Given the description of an element on the screen output the (x, y) to click on. 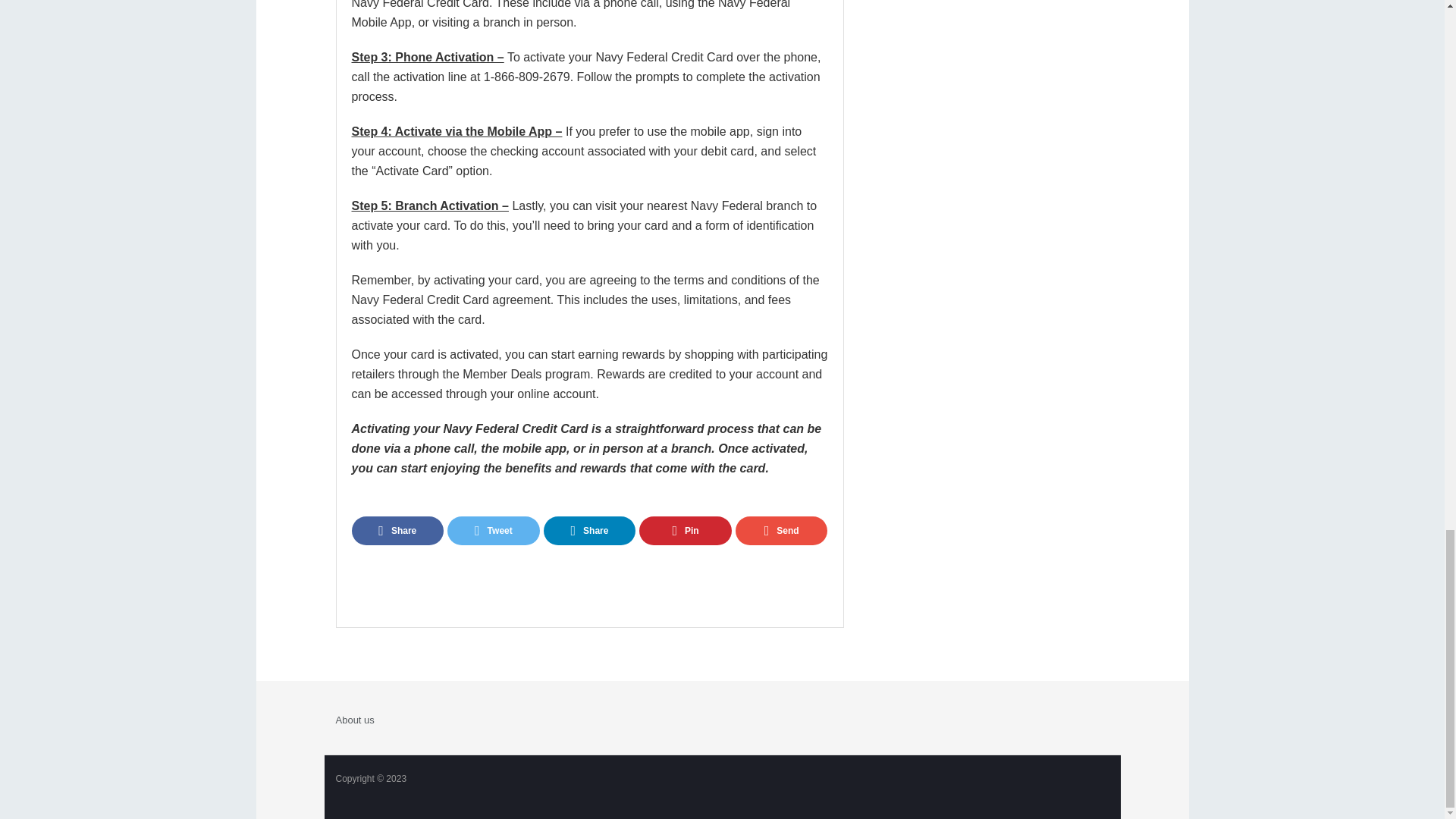
Tweet (493, 530)
Pin (685, 530)
Send (781, 530)
Share (398, 530)
Share (589, 530)
